Given the description of an element on the screen output the (x, y) to click on. 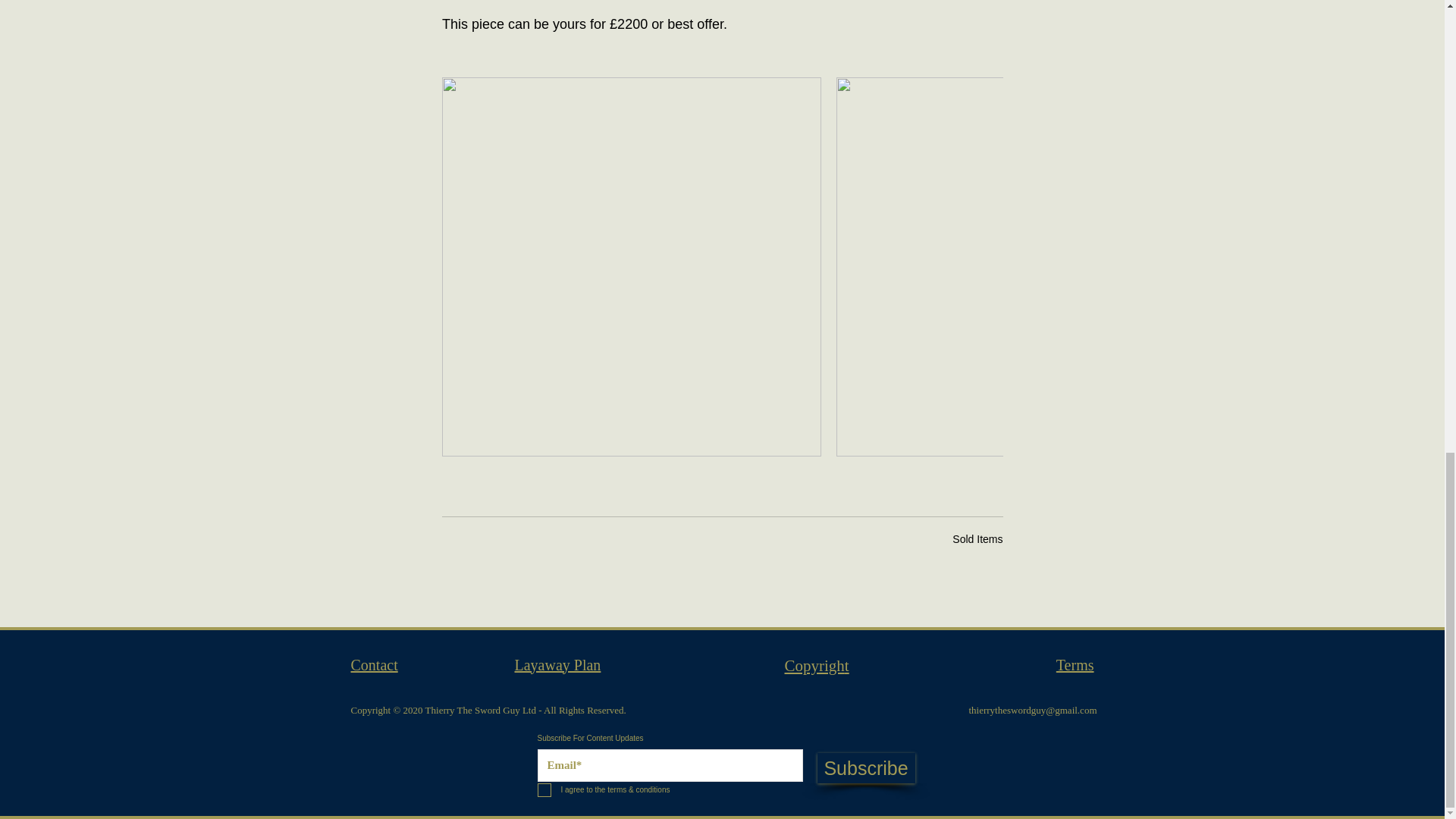
Terms (1075, 664)
Layaway Plan (556, 664)
Copyrigh (814, 665)
Subscribe (865, 767)
Sold Items (977, 539)
Contact (373, 664)
